Given the description of an element on the screen output the (x, y) to click on. 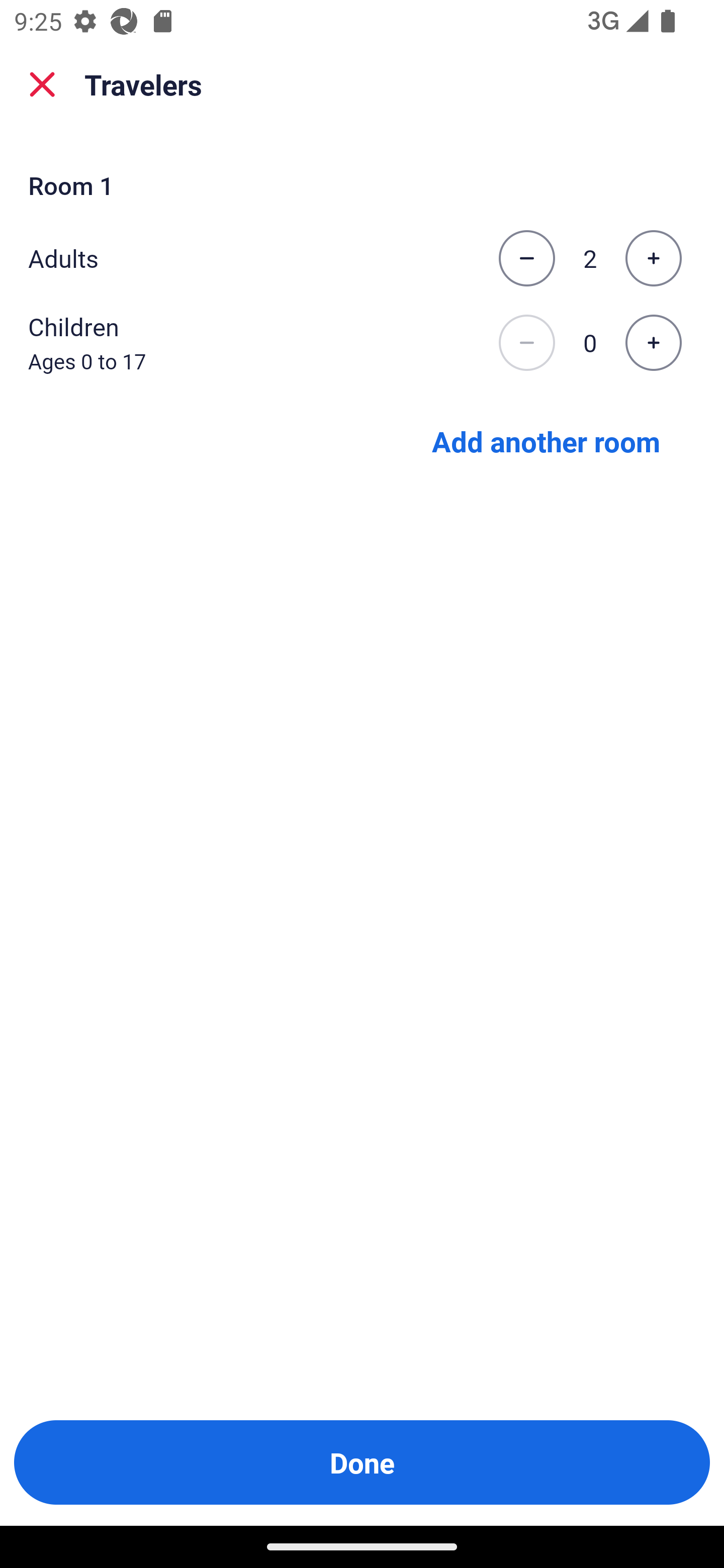
close (42, 84)
Decrease the number of adults (526, 258)
Increase the number of adults (653, 258)
Decrease the number of children (526, 343)
Increase the number of children (653, 343)
Add another room (545, 440)
Done (361, 1462)
